Given the description of an element on the screen output the (x, y) to click on. 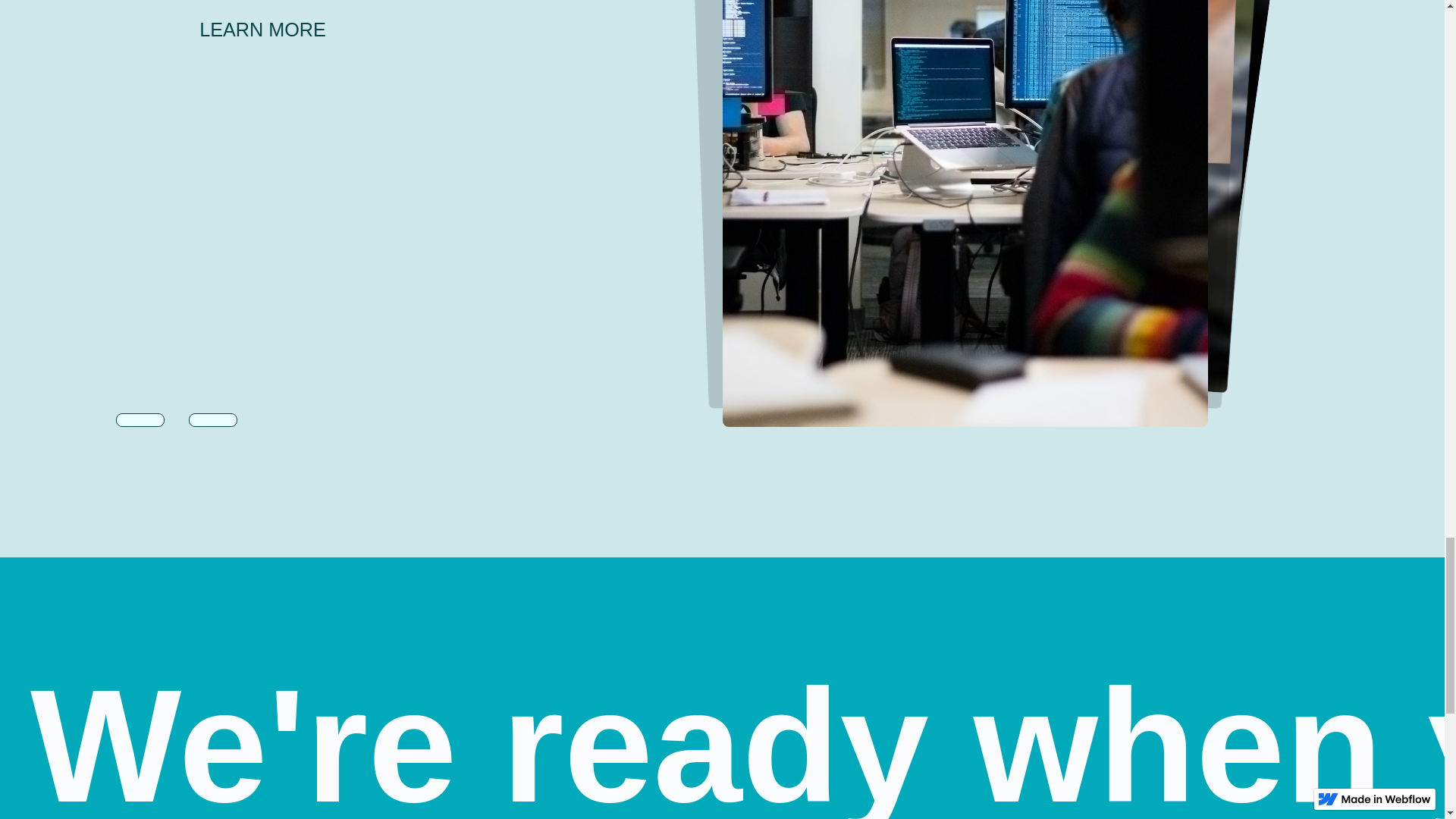
LEARN MORE (267, 29)
